Given the description of an element on the screen output the (x, y) to click on. 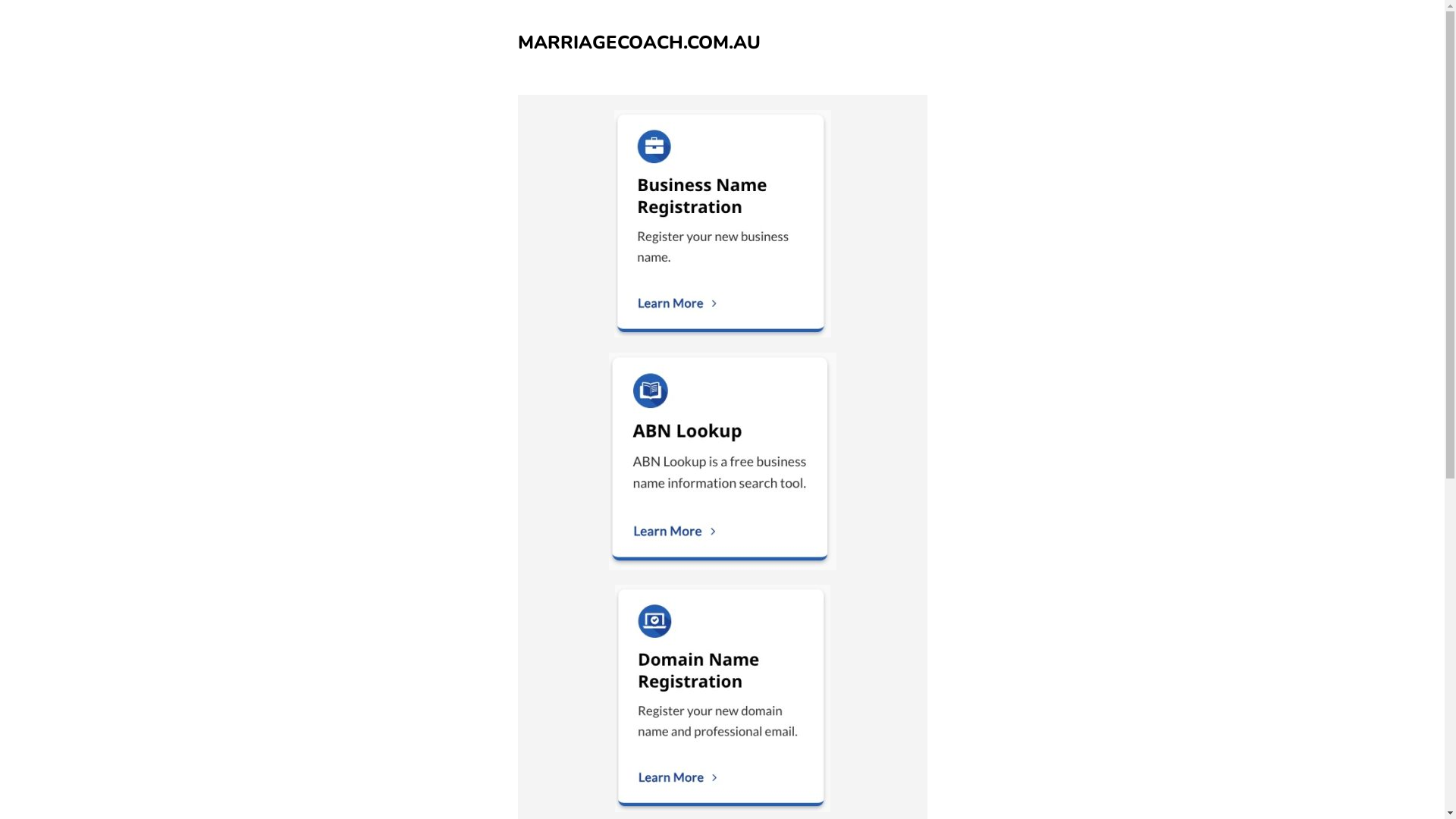
MARRIAGECOACH.COM.AU Element type: text (638, 42)
